Given the description of an element on the screen output the (x, y) to click on. 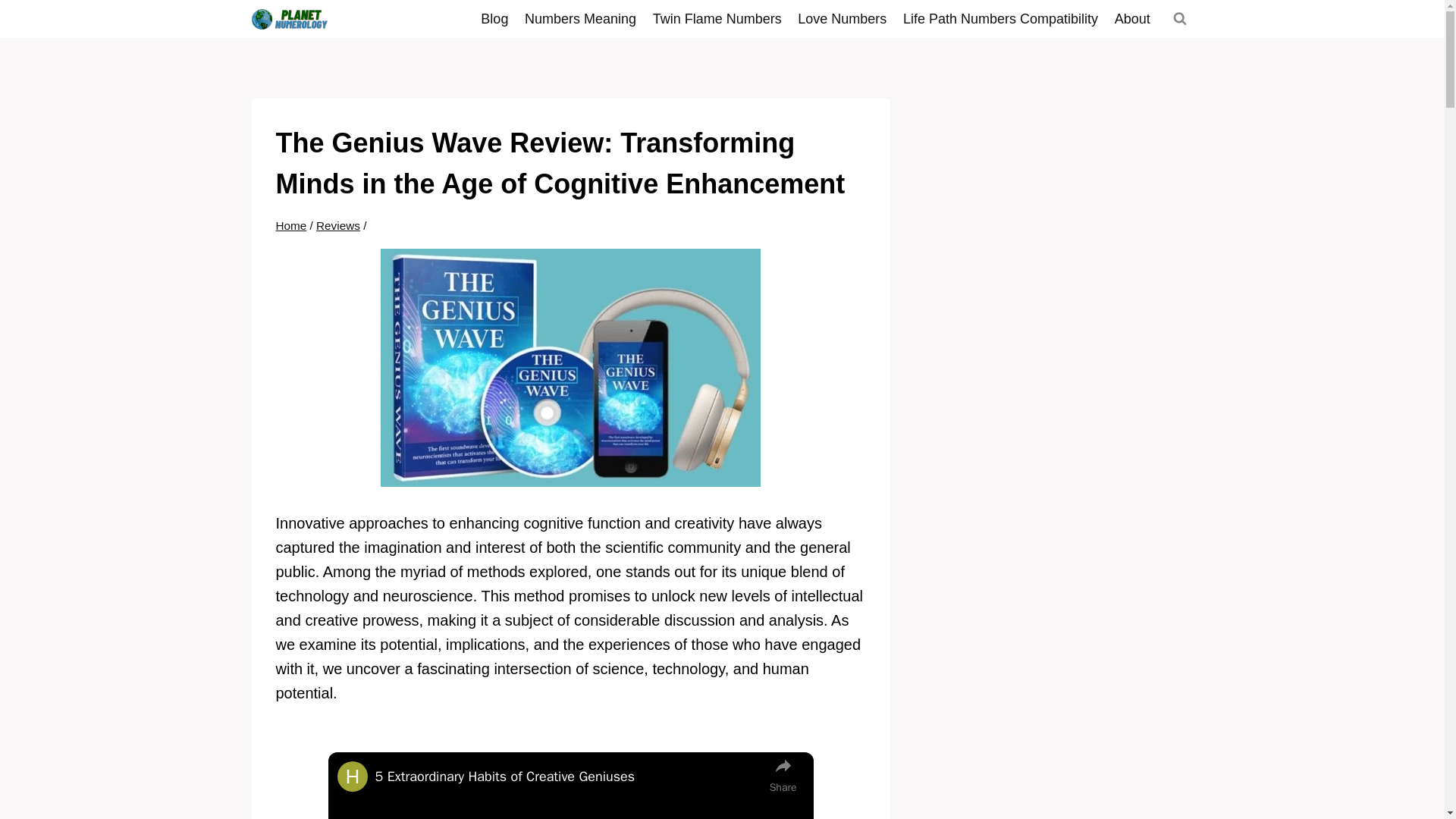
Twin Flame Numbers (717, 18)
Numbers Meaning (580, 18)
Blog (494, 18)
Reviews (337, 225)
5 Extraordinary Habits of Creative Geniuses (568, 776)
Life Path Numbers Compatibility (1000, 18)
Home (291, 225)
About (1132, 18)
Love Numbers (842, 18)
